Given the description of an element on the screen output the (x, y) to click on. 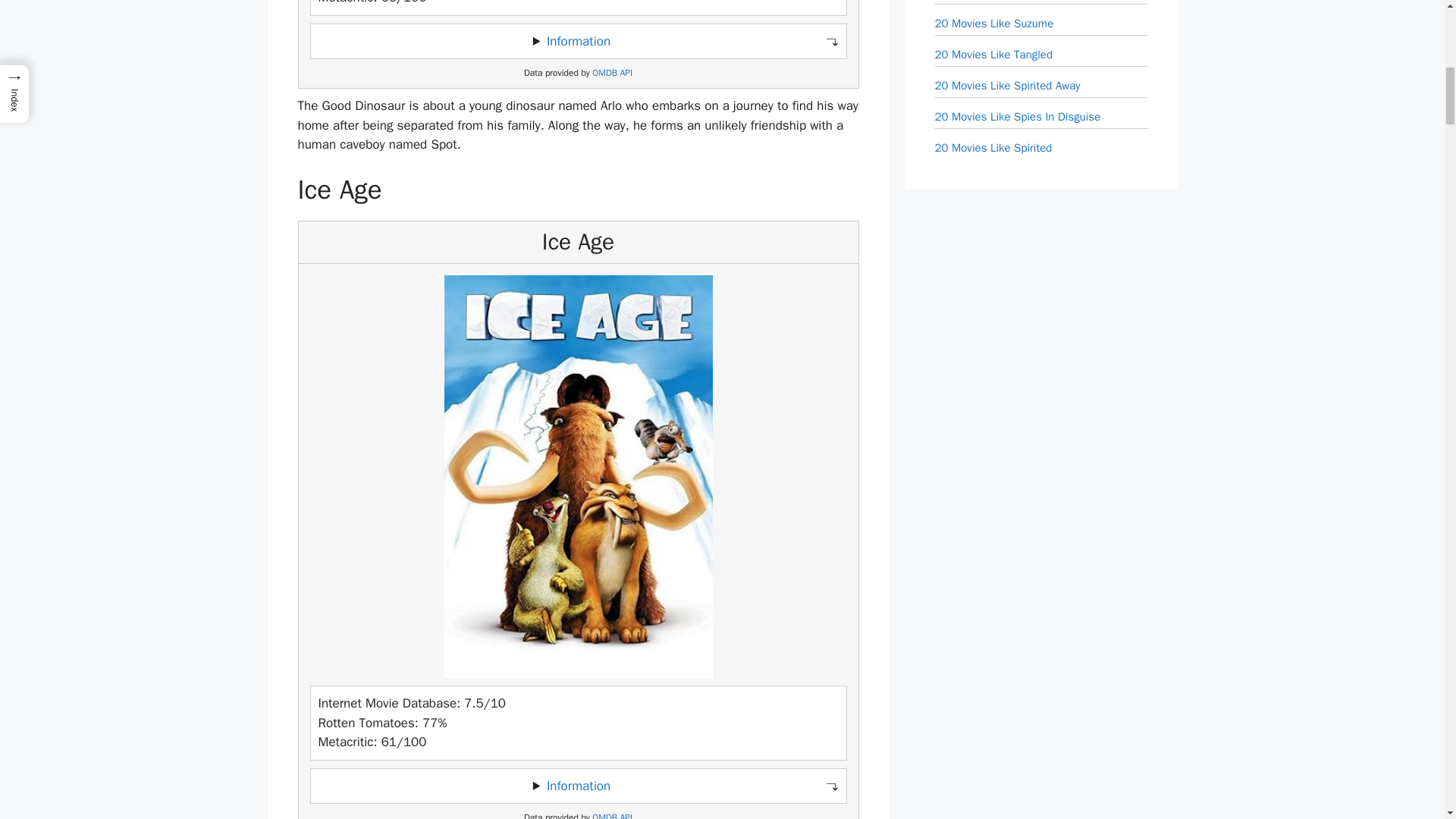
Information (578, 41)
Information (578, 785)
OMDB API (611, 72)
Toggle information (578, 786)
Open Movie Database API (611, 815)
OMDB API (611, 815)
Open Movie Database API (611, 72)
Toggle information (578, 41)
